Given the description of an element on the screen output the (x, y) to click on. 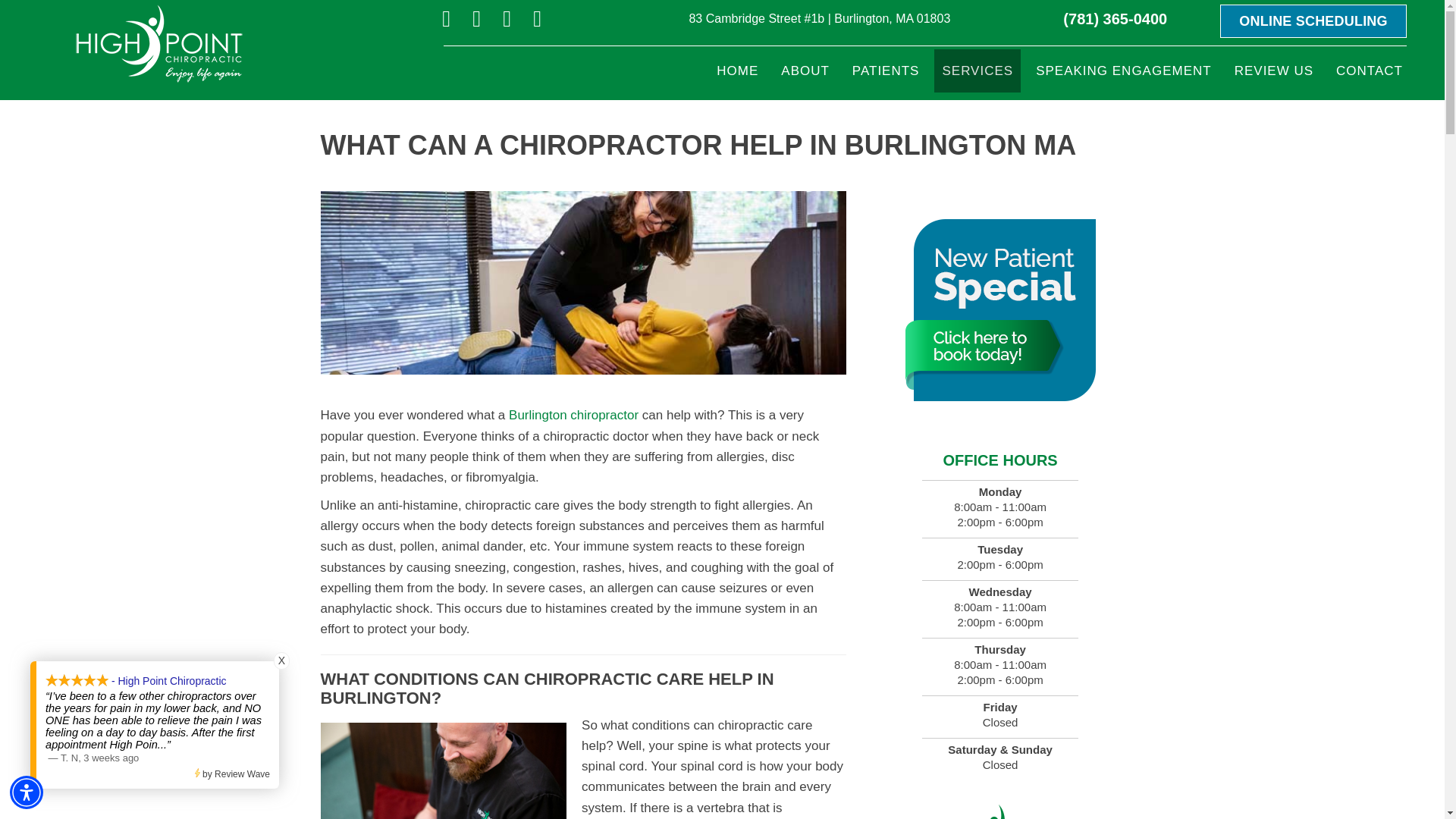
ONLINE SCHEDULING (1313, 20)
ABOUT (805, 70)
Chiropractic Burlington MA High Point Chiropractic (158, 43)
SERVICES (977, 70)
Accessibility Menu (26, 792)
Chiropractor Near Me Burlington MA New Patient Special (1000, 310)
Chiropractic Burlington MA High Point Chiropractic (999, 811)
HOME (737, 70)
PATIENTS (885, 70)
